Given the description of an element on the screen output the (x, y) to click on. 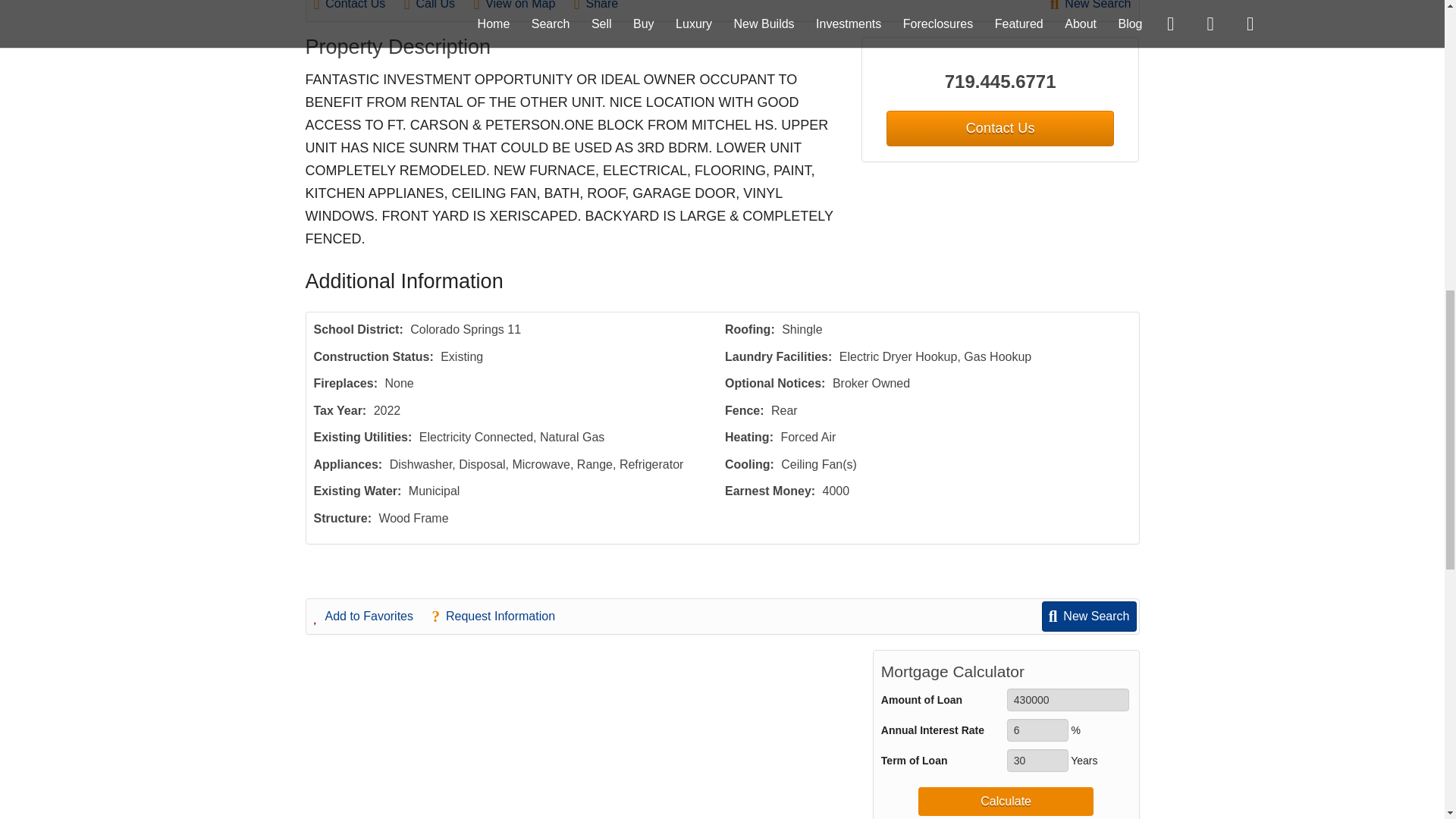
6 (1037, 730)
430000 (1068, 699)
View on Map (521, 7)
Contact Us (357, 7)
Call Us (437, 7)
Share (603, 7)
New Search (1090, 7)
30 (1037, 760)
